Given the description of an element on the screen output the (x, y) to click on. 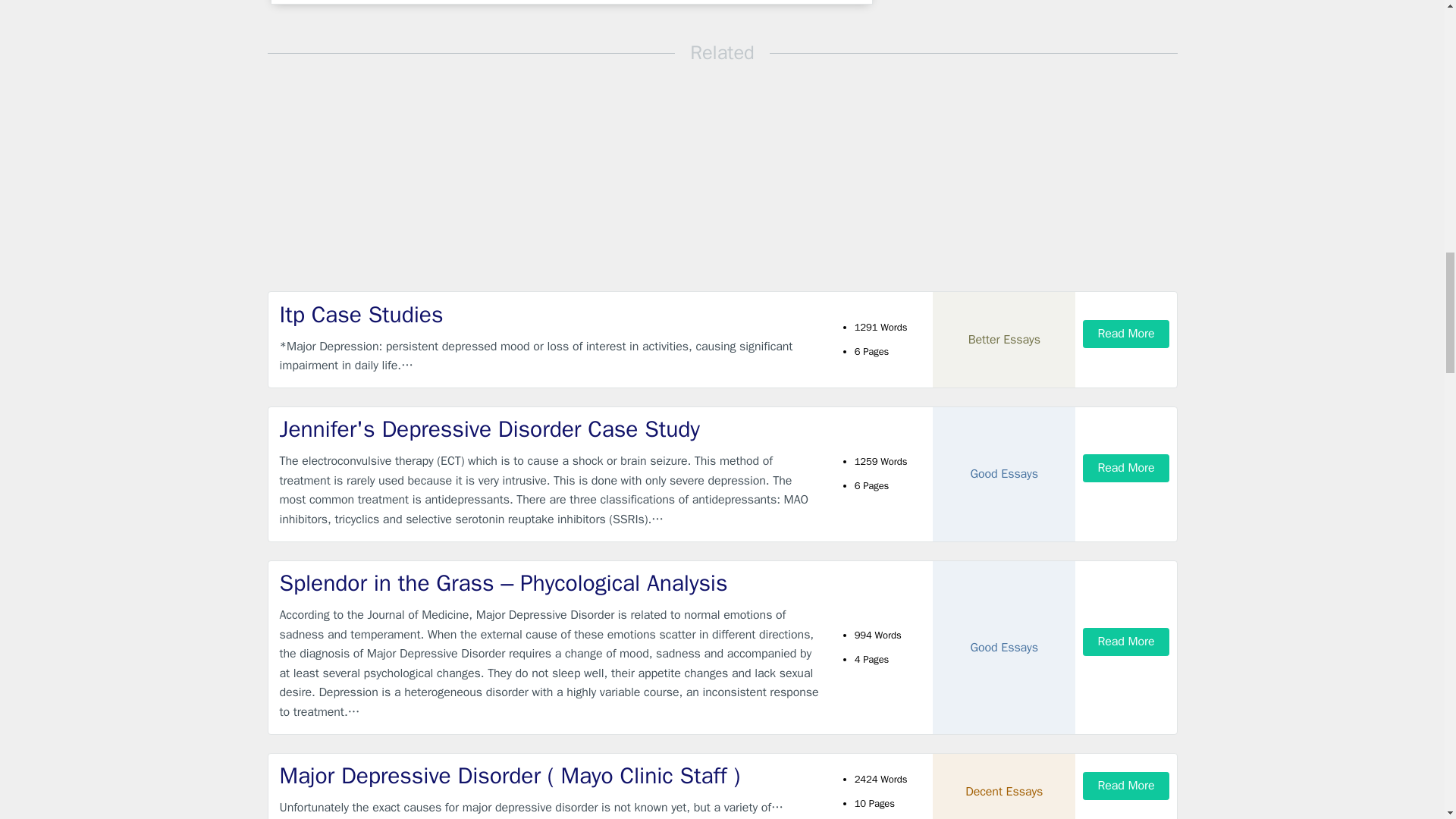
Read More (1126, 786)
Read More (1126, 468)
Read More (1126, 642)
Read More (1126, 334)
Jennifer's Depressive Disorder Case Study (548, 429)
Itp Case Studies (548, 314)
